Given the description of an element on the screen output the (x, y) to click on. 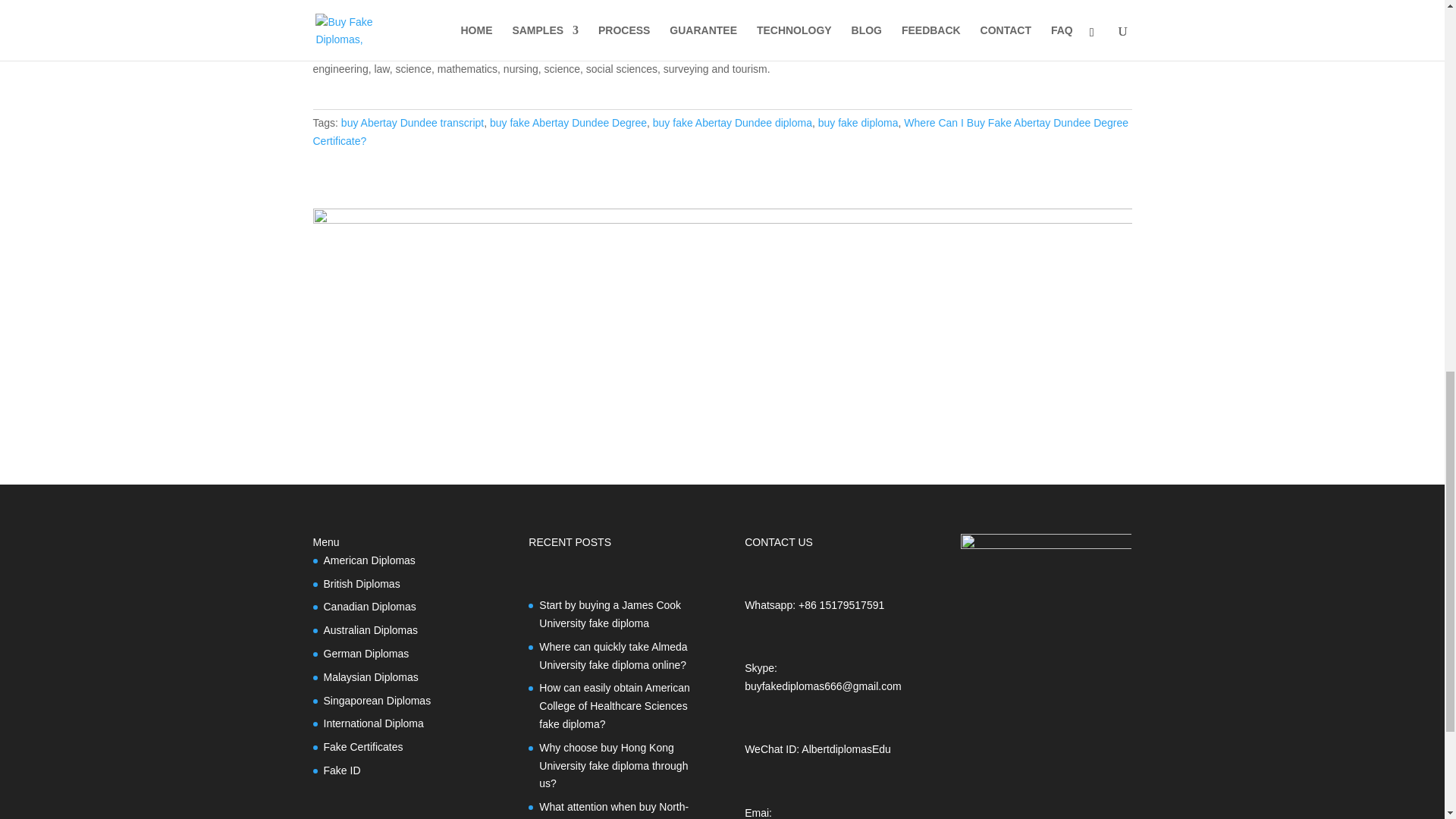
buy Abertay Dundee transcript (411, 122)
Fake ID (341, 770)
Canadian Diplomas (368, 606)
British Diplomas (360, 583)
buy fake Abertay Dundee diploma (732, 122)
Start by buying a James Cook University fake diploma (609, 613)
German Diplomas (366, 653)
International Diploma (373, 723)
Singaporean Diplomas (376, 700)
buy fake Abertay Dundee Degree (567, 122)
Fake Certificates (363, 746)
Where Can I Buy Fake Abertay Dundee Degree Certificate? (720, 132)
Malaysian Diplomas (370, 676)
